Given the description of an element on the screen output the (x, y) to click on. 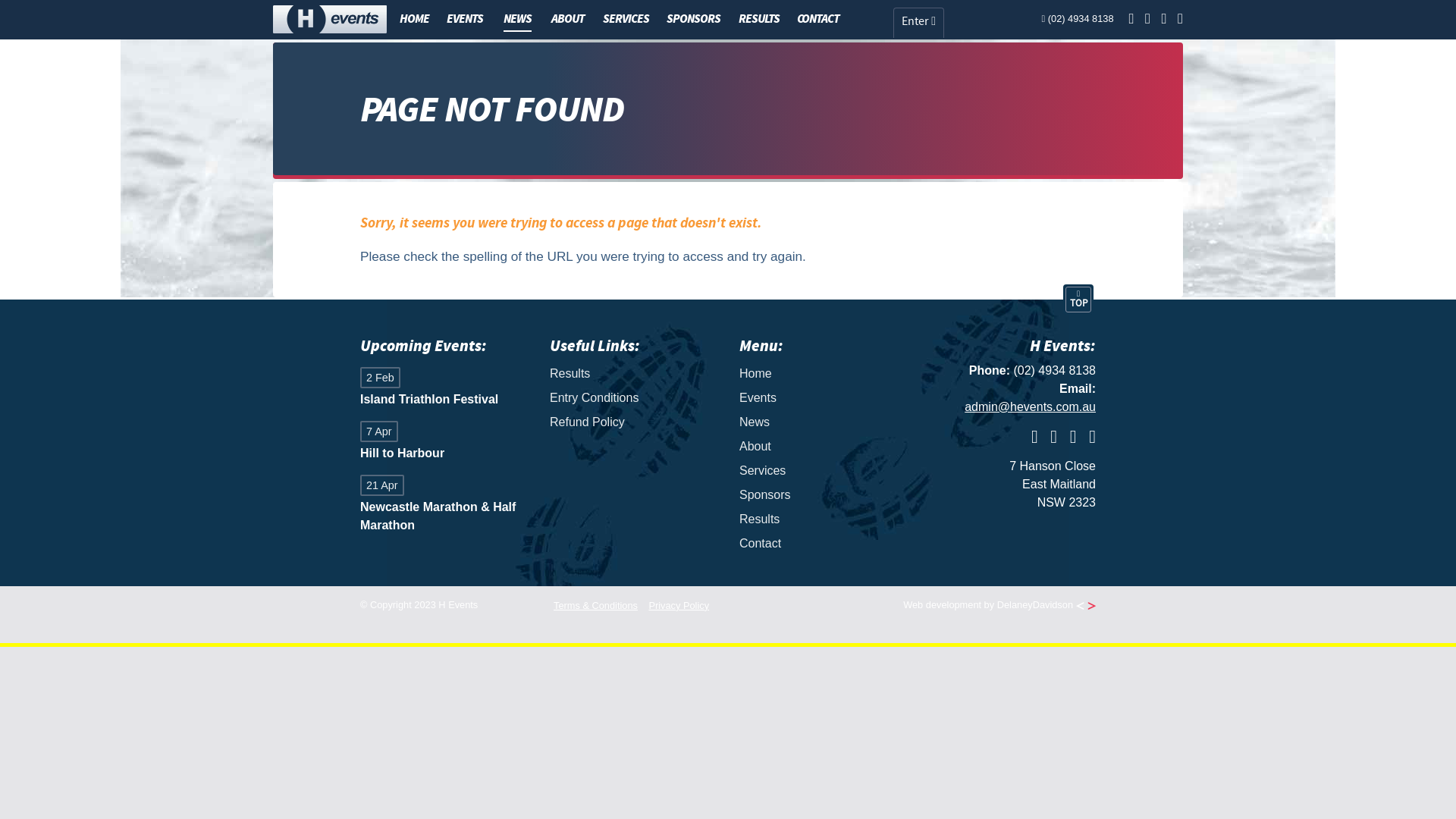
Services Element type: text (822, 470)
CONTACT Element type: text (817, 18)
7 Apr
Hill to Harbour Element type: text (443, 442)
Privacy Policy Element type: text (678, 605)
SPONSORS Element type: text (693, 18)
RESULTS Element type: text (758, 18)
TOP Element type: text (1078, 299)
About Element type: text (822, 446)
ABOUT Element type: text (567, 18)
Entry Conditions Element type: text (632, 397)
2 Feb
Island Triathlon Festival Element type: text (443, 388)
Web development by DelaneyDavidson Element type: text (999, 605)
Events Element type: text (822, 397)
Results Element type: text (822, 519)
News Element type: text (822, 422)
Enter Element type: text (918, 22)
admin@hevents.com.au Element type: text (1029, 406)
SERVICES Element type: text (625, 18)
Contact Element type: text (822, 543)
EVENTS Element type: text (464, 18)
Home Element type: text (822, 373)
NEWS Element type: text (517, 19)
Sponsors Element type: text (822, 495)
Refund Policy Element type: text (632, 422)
Results Element type: text (632, 373)
Terms & Conditions Element type: text (595, 605)
21 Apr
Newcastle Marathon & Half Marathon Element type: text (443, 505)
HOME Element type: text (414, 18)
